Given the description of an element on the screen output the (x, y) to click on. 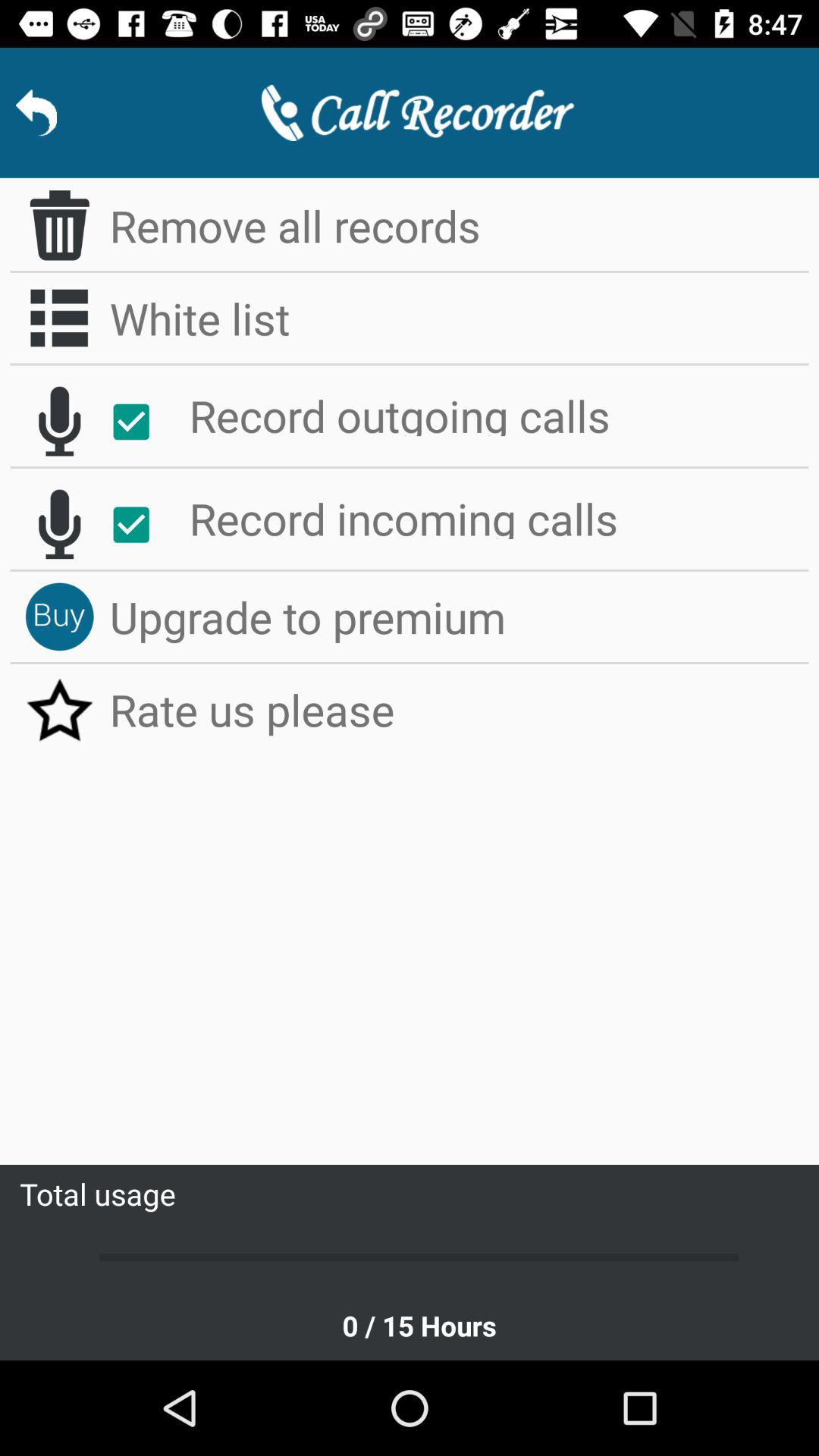
open remove all records app (459, 225)
